Given the description of an element on the screen output the (x, y) to click on. 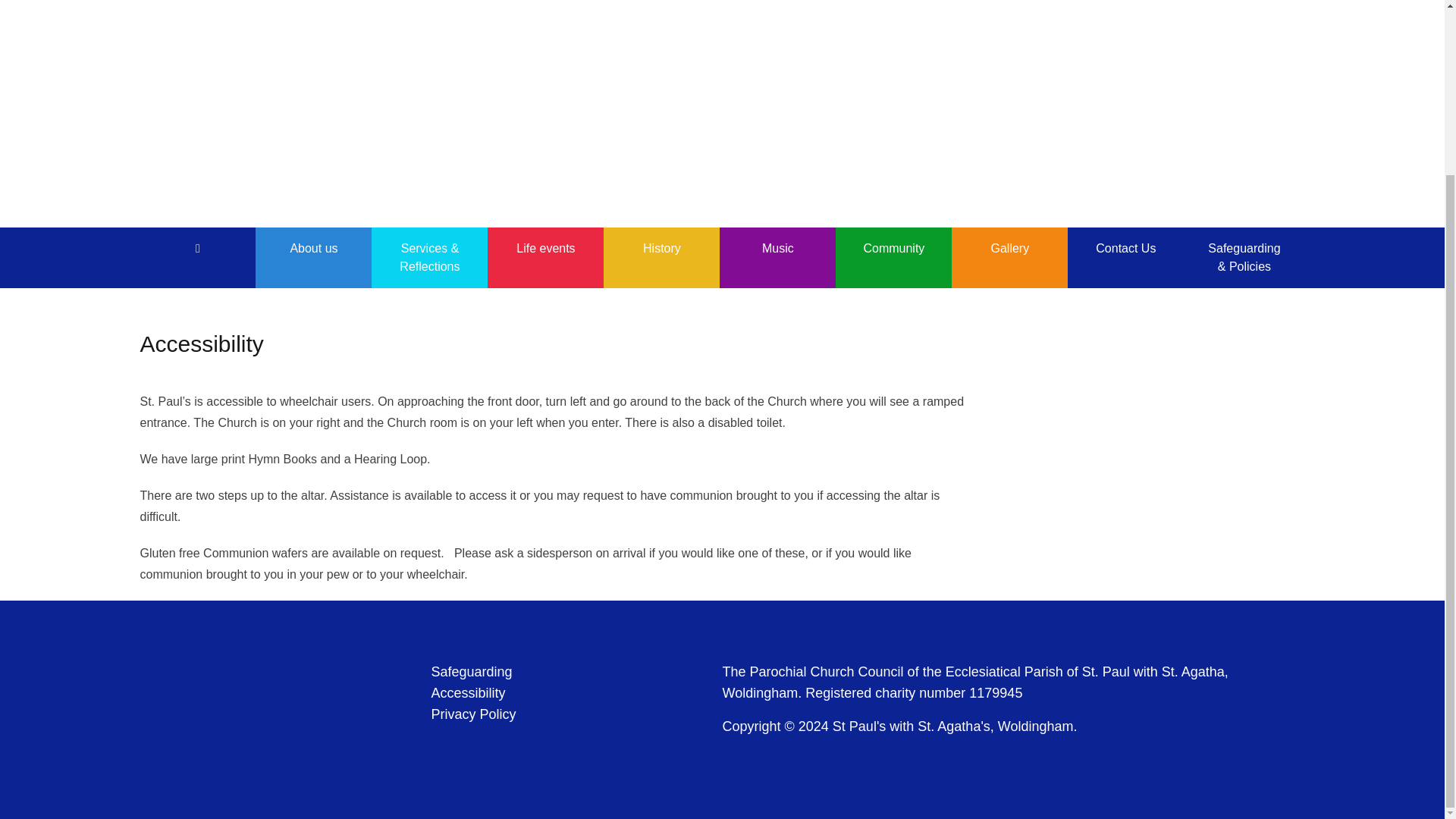
History (661, 248)
Music (777, 248)
About us (313, 248)
Privacy Policy (472, 713)
Contact Us (1125, 248)
Accessibility (467, 693)
Safeguarding (471, 671)
Gallery (1009, 248)
Life events (545, 248)
Community (893, 248)
